Given the description of an element on the screen output the (x, y) to click on. 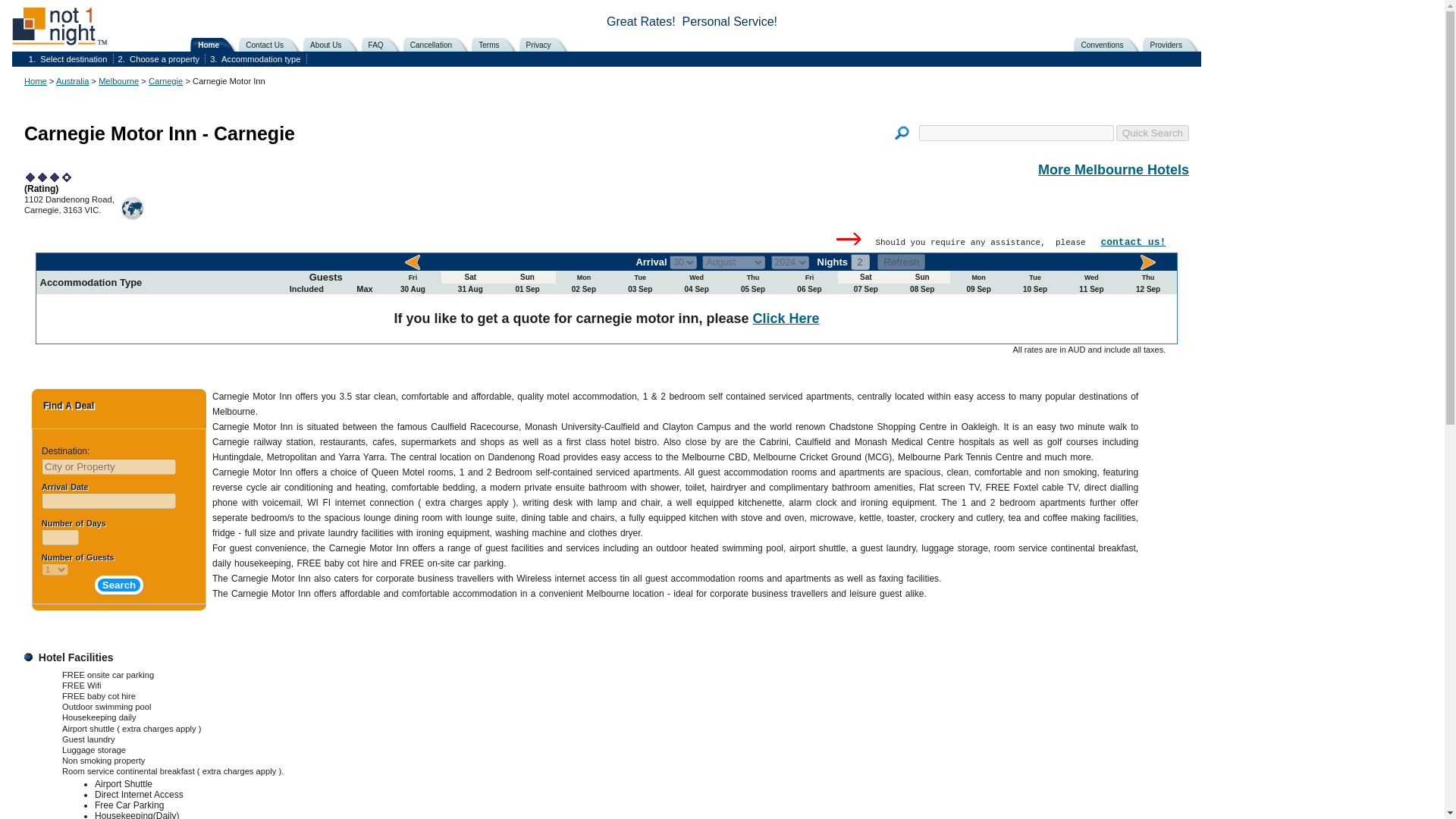
Privacy (546, 44)
Home (35, 80)
Terms (497, 44)
FAQ (384, 44)
Contact Us (272, 44)
Carnegie (165, 80)
Providers (1174, 44)
Refresh (900, 261)
Home (216, 44)
contact us! (1133, 242)
